Given the description of an element on the screen output the (x, y) to click on. 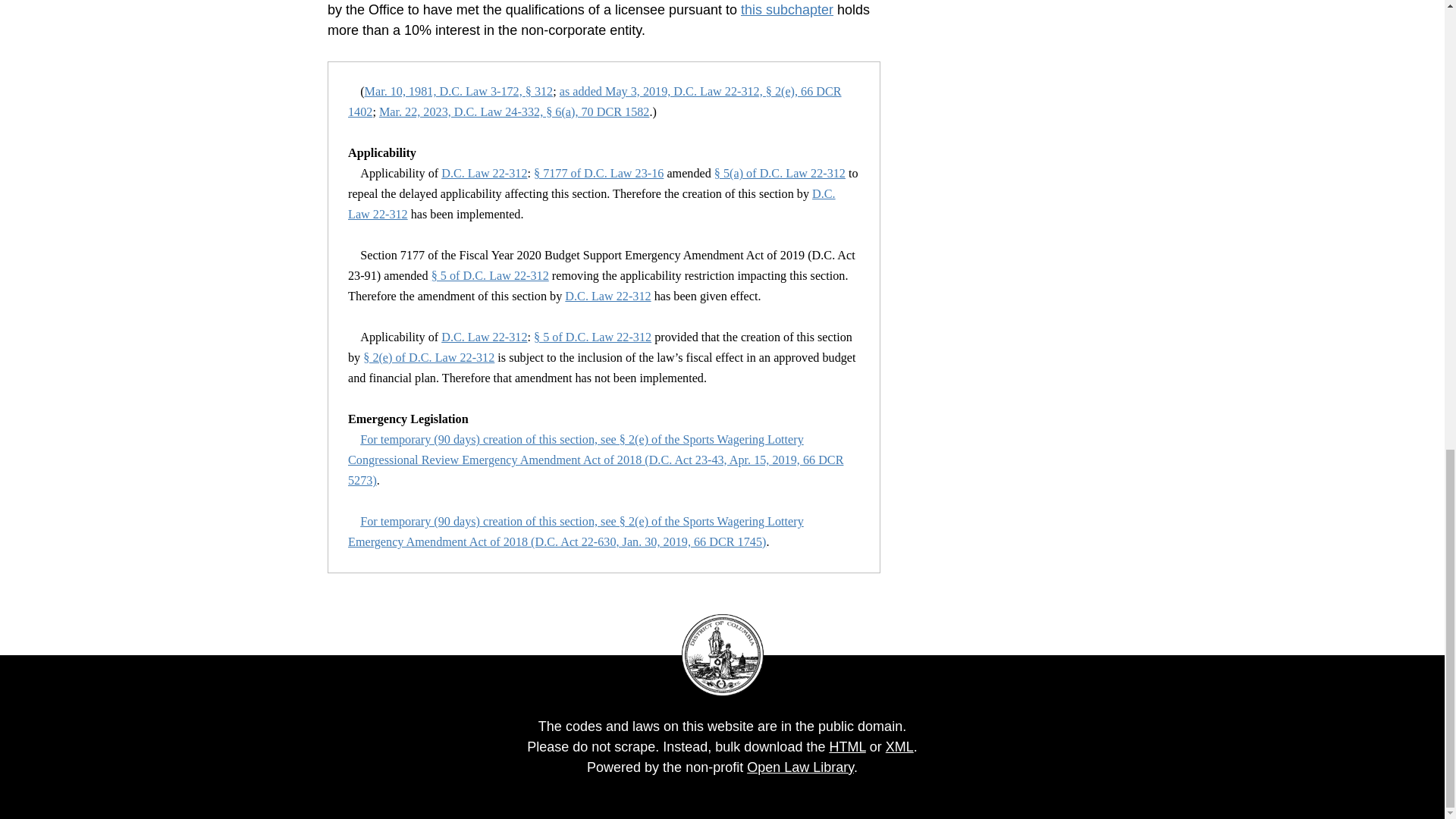
D.C. Law 22-312 (607, 296)
this subchapter (786, 9)
XML (899, 746)
HTML (846, 746)
Open Law Library (799, 767)
D.C. Law 22-312 (484, 336)
D.C. Law 22-312 (484, 173)
